Given the description of an element on the screen output the (x, y) to click on. 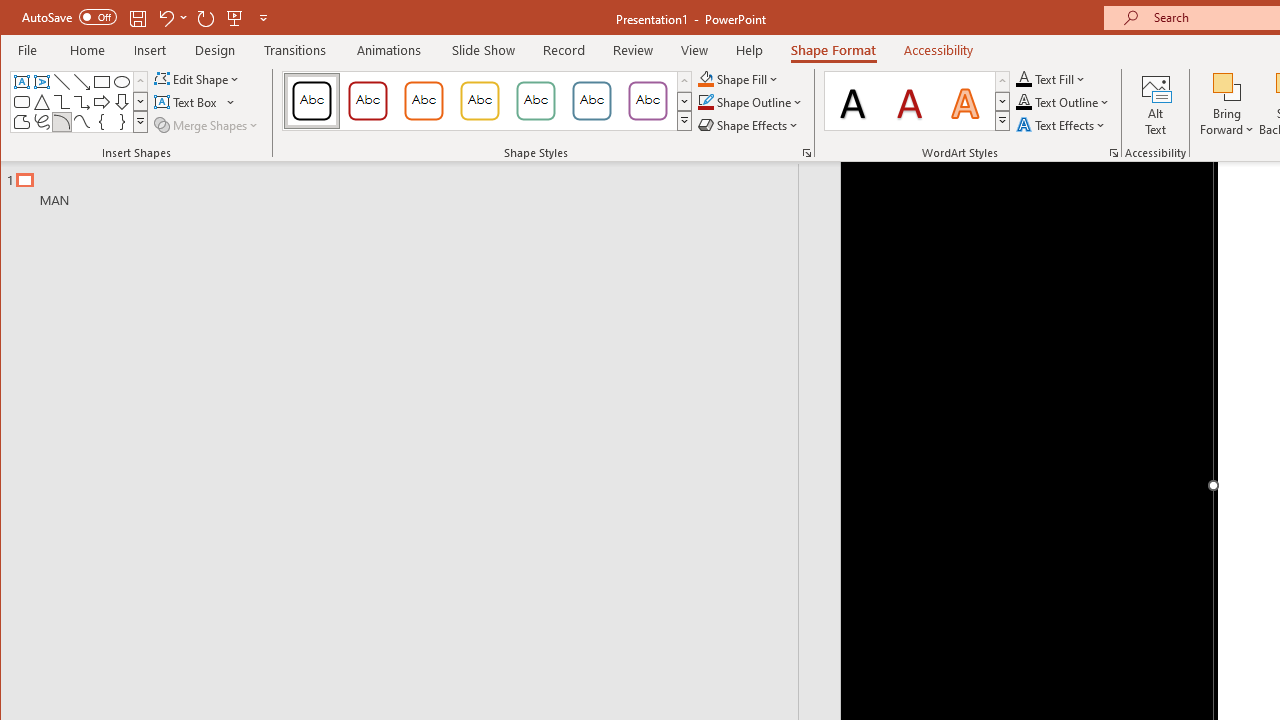
Rectangle (102, 82)
Row Down (1001, 101)
Customize Quick Access Toolbar (263, 17)
Colored Outline - Orange, Accent 2 (423, 100)
Shape Effects (750, 124)
Isosceles Triangle (42, 102)
Bring Forward (1227, 104)
Help (749, 50)
Left Brace (102, 121)
Fill: Black, Text color 1; Shadow (853, 100)
Colored Outline - Black, Dark 1 (312, 100)
Save (138, 17)
